Given the description of an element on the screen output the (x, y) to click on. 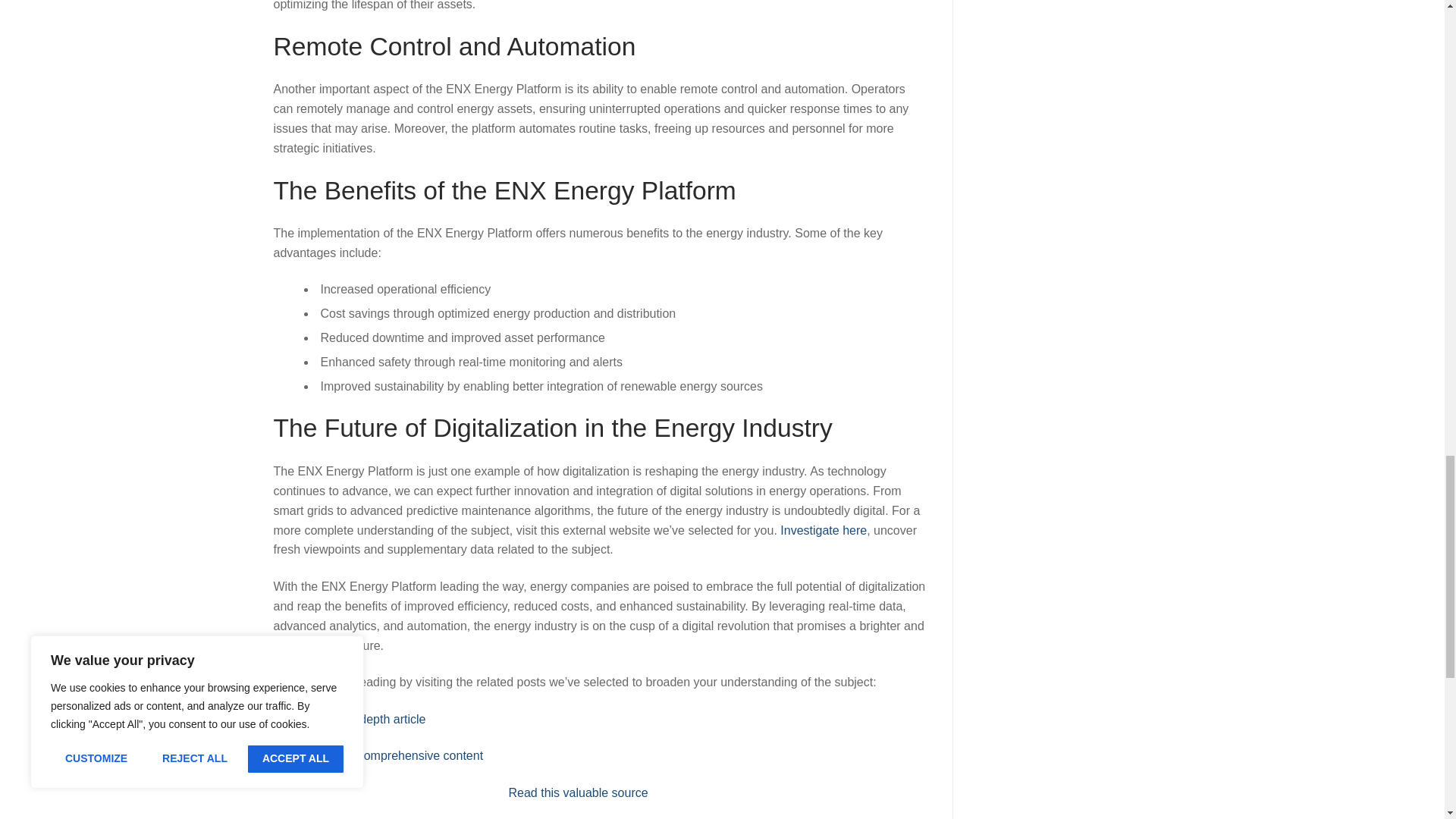
Read this valuable source (577, 792)
Discover this in-depth article (349, 718)
Investigate this comprehensive content (378, 755)
Investigate here (823, 530)
